Given the description of an element on the screen output the (x, y) to click on. 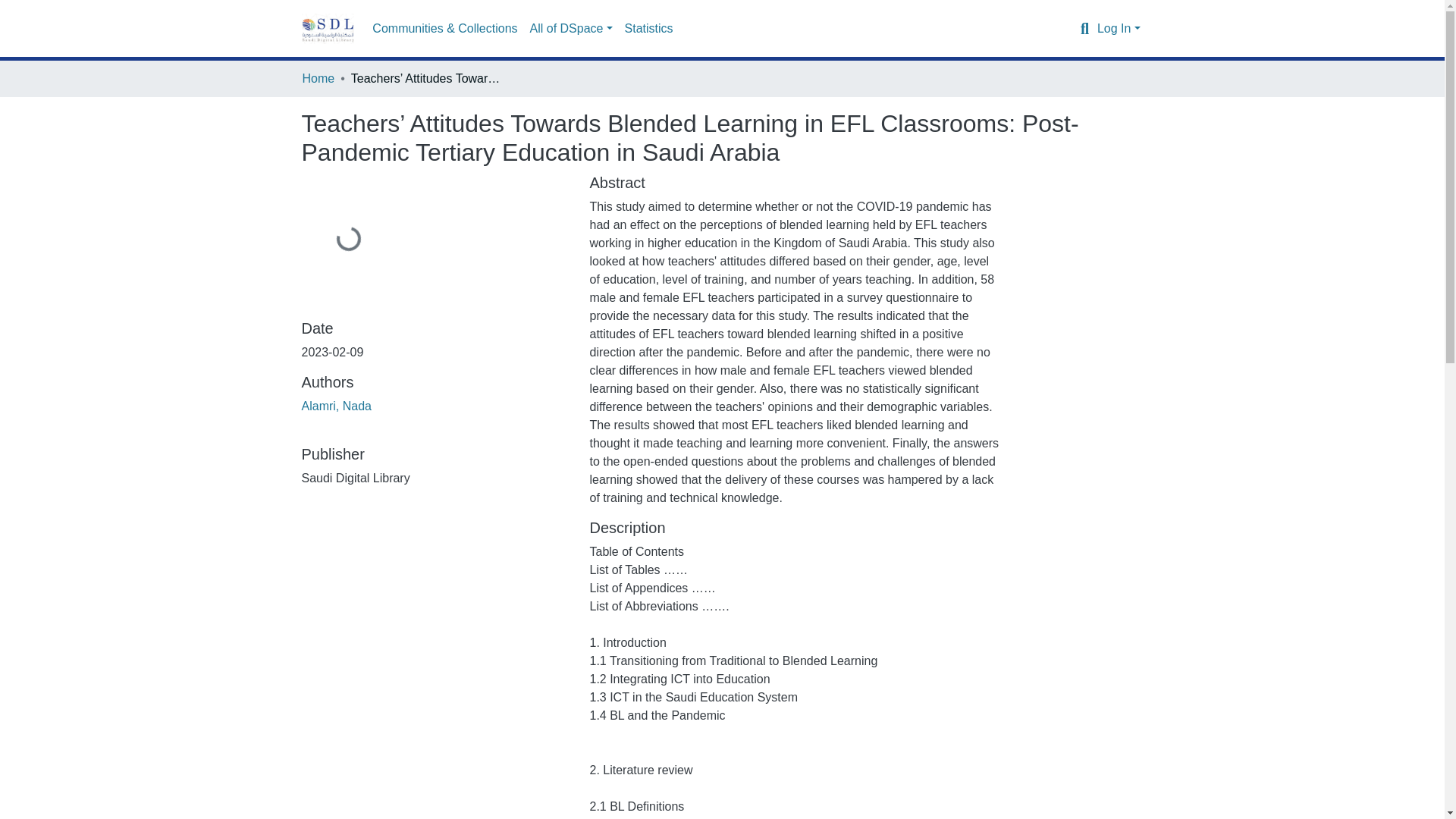
Log In (1118, 28)
Alamri, Nada (336, 405)
Statistics (648, 28)
All of DSpace (571, 28)
Statistics (648, 28)
Home (317, 78)
Search (1084, 28)
